Given the description of an element on the screen output the (x, y) to click on. 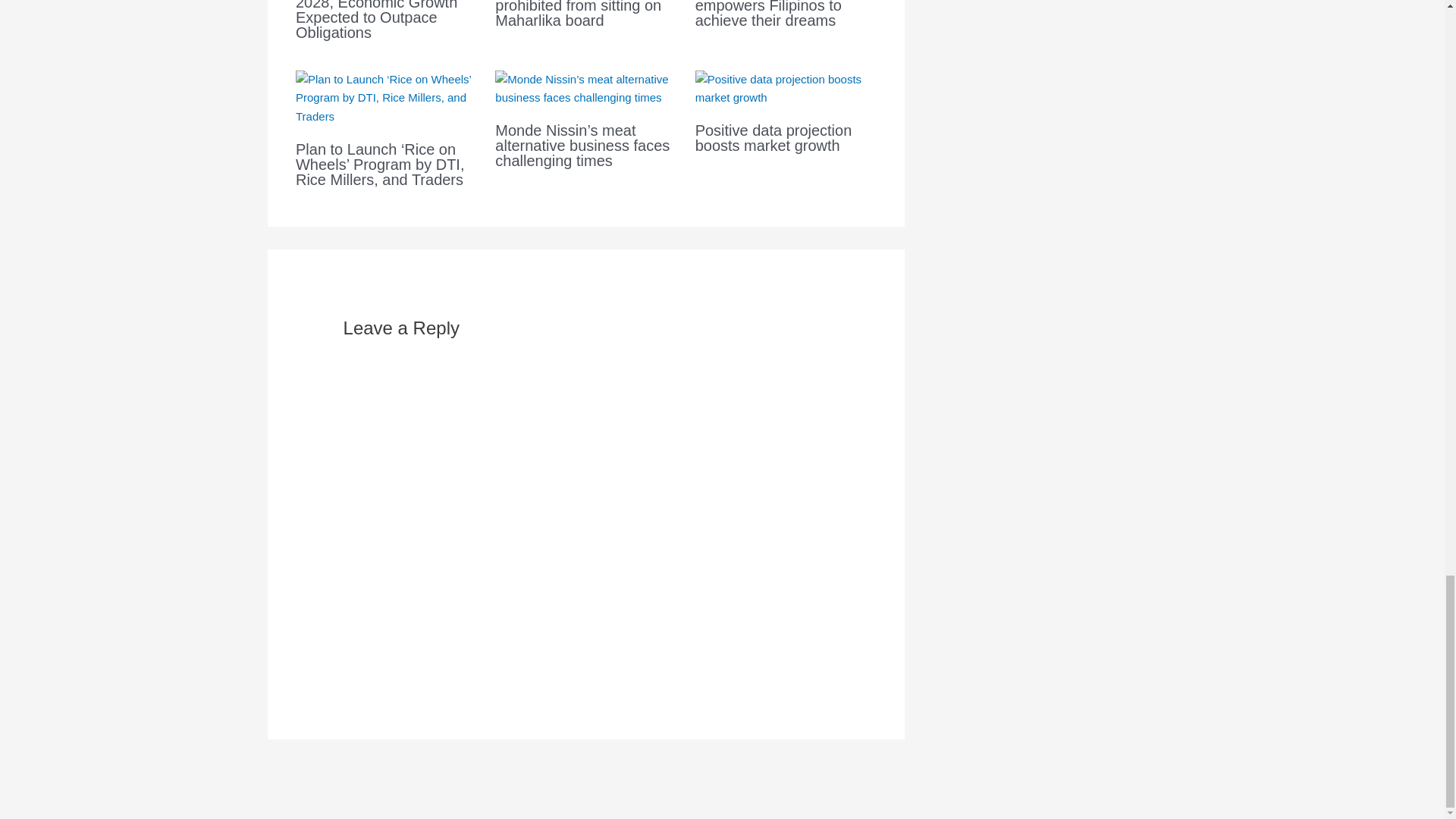
DOJ: Foreigners prohibited from sitting on Maharlika board (578, 14)
